Given the description of an element on the screen output the (x, y) to click on. 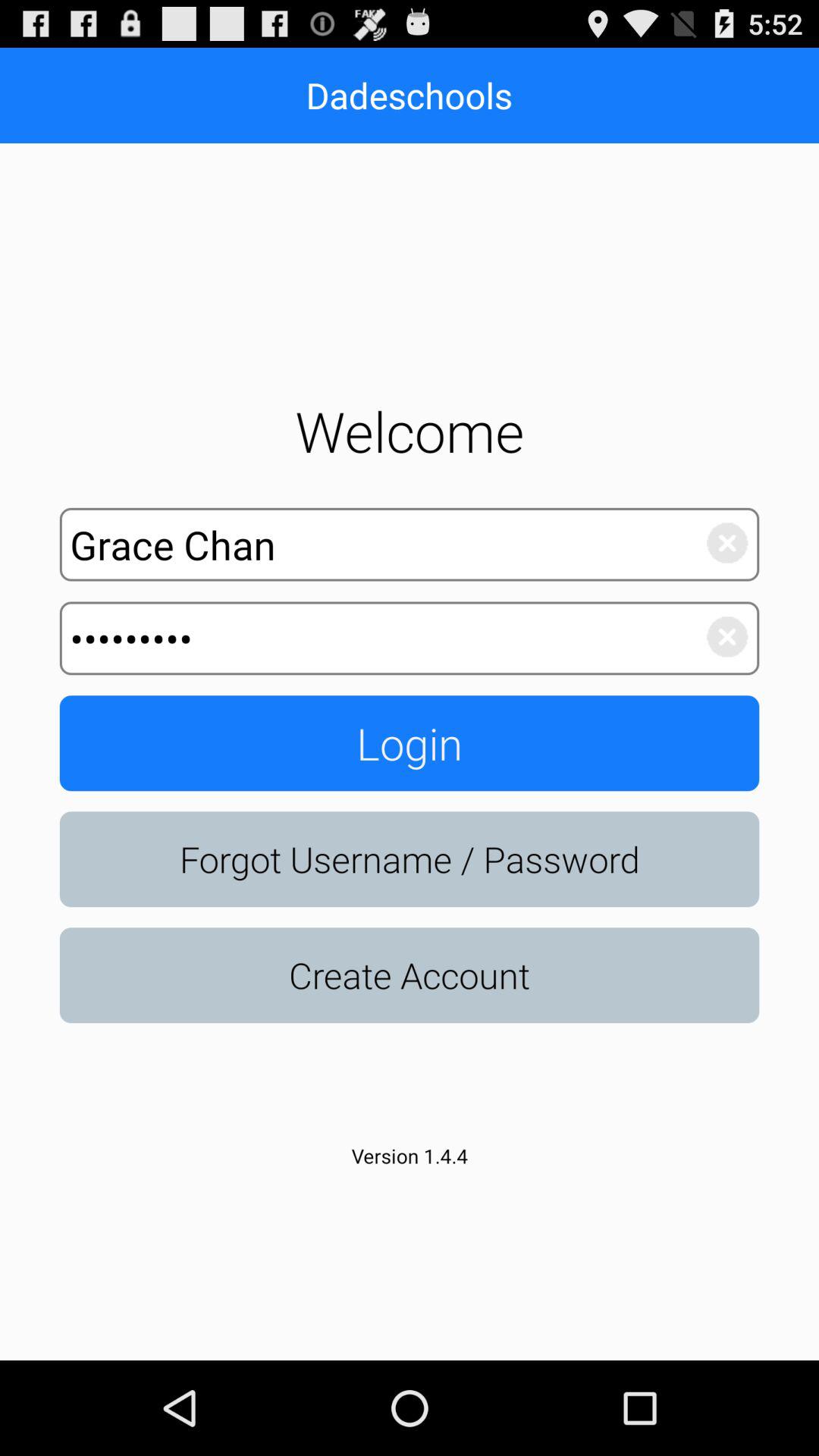
clears the password (719, 638)
